Given the description of an element on the screen output the (x, y) to click on. 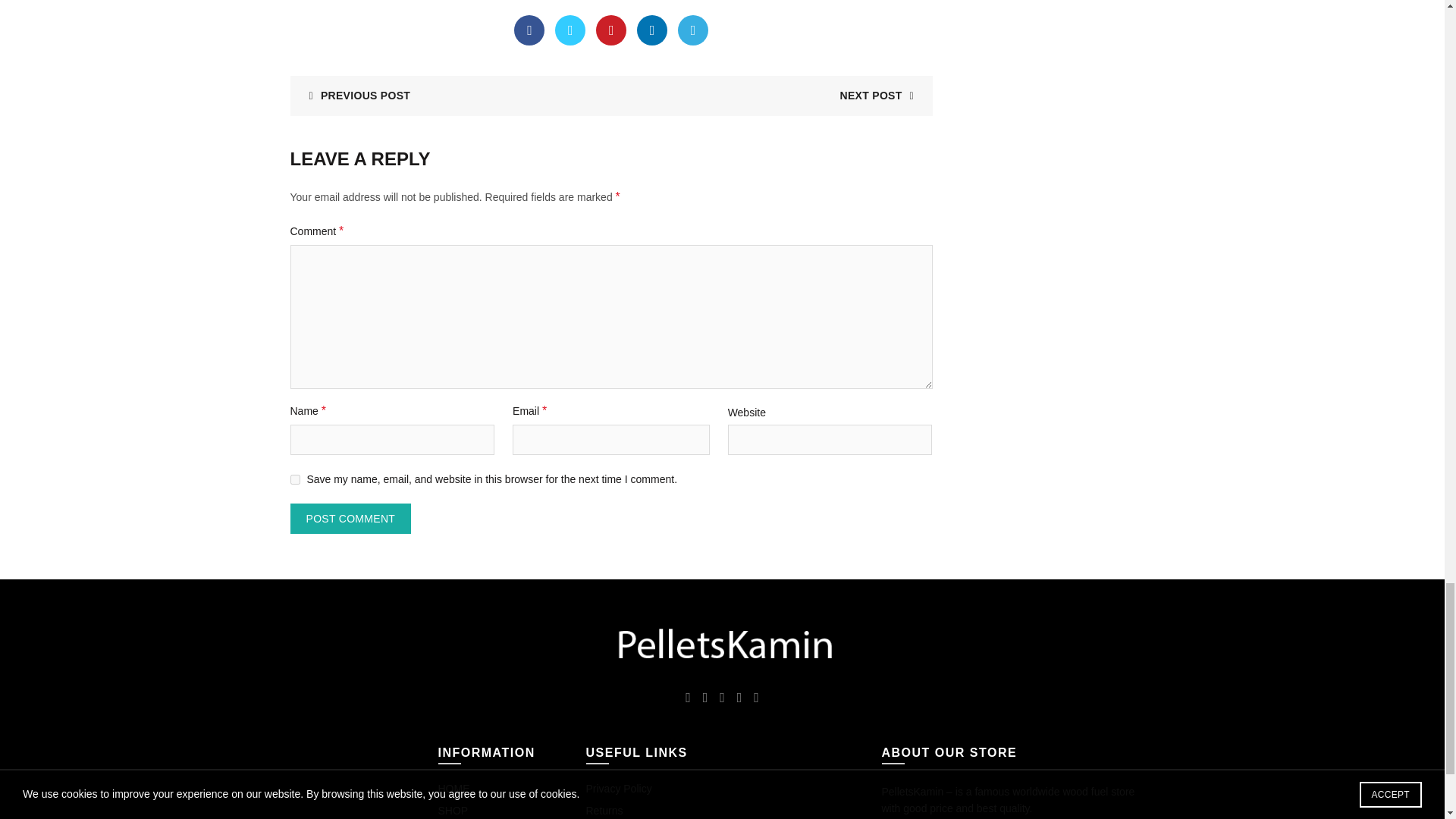
Pellets Kamin (721, 644)
Post Comment (349, 518)
yes (294, 479)
